Given the description of an element on the screen output the (x, y) to click on. 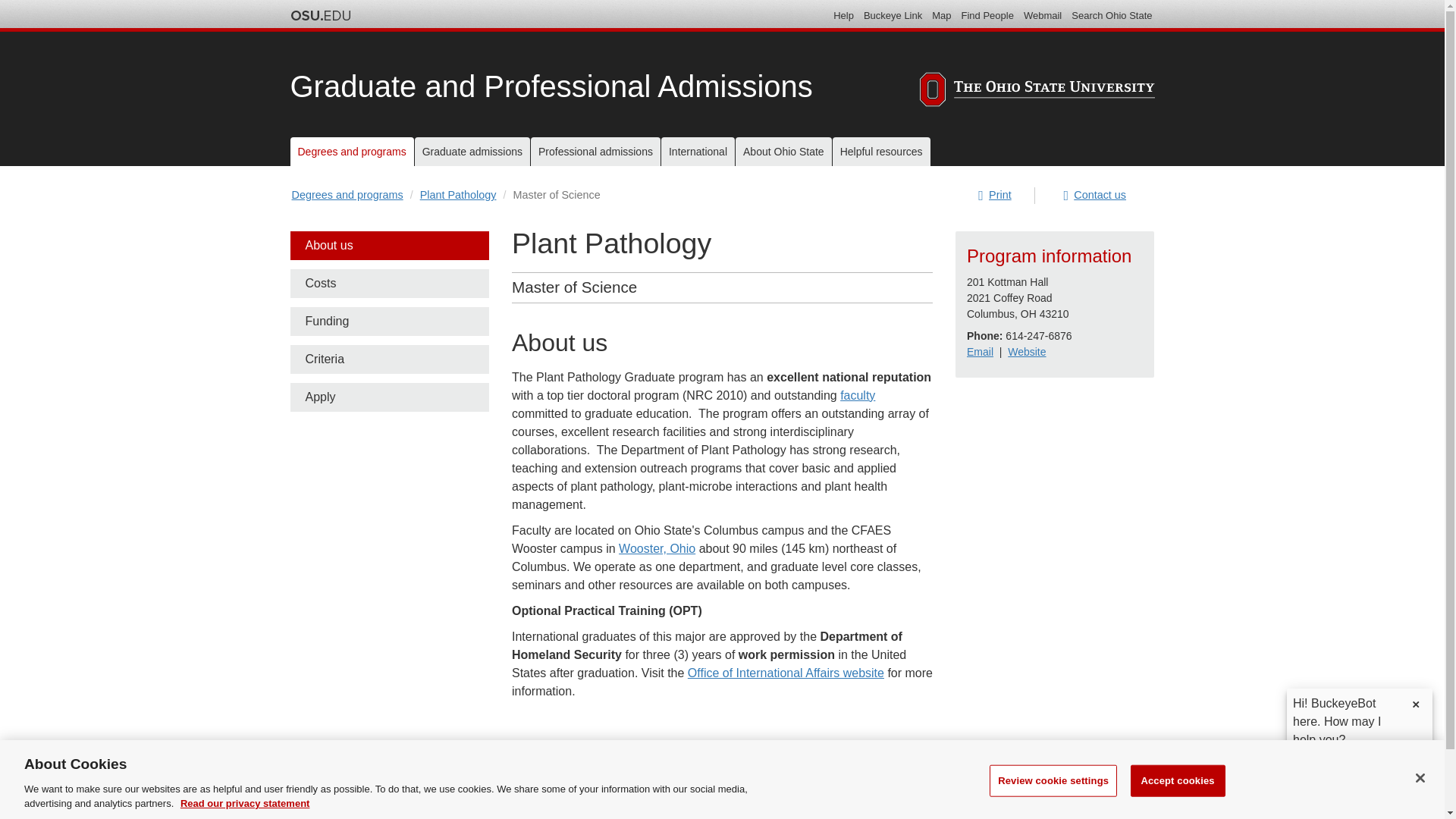
The Ohio State University (319, 15)
THE OHIO STATE UNIVERSITY (1036, 88)
RSS (1126, 796)
Degrees and programs (351, 152)
The Ohio State University (319, 15)
Graduate and Professional Admissions (550, 86)
Help (842, 15)
THE OHIO STATE UNIVERSITY (402, 783)
Print this page (995, 195)
Search Ohio State (1111, 15)
Map (940, 15)
Professional admissions (596, 152)
THE OHIO STATE UNIVERSITY (1036, 91)
YouTube (1071, 796)
